Given the description of an element on the screen output the (x, y) to click on. 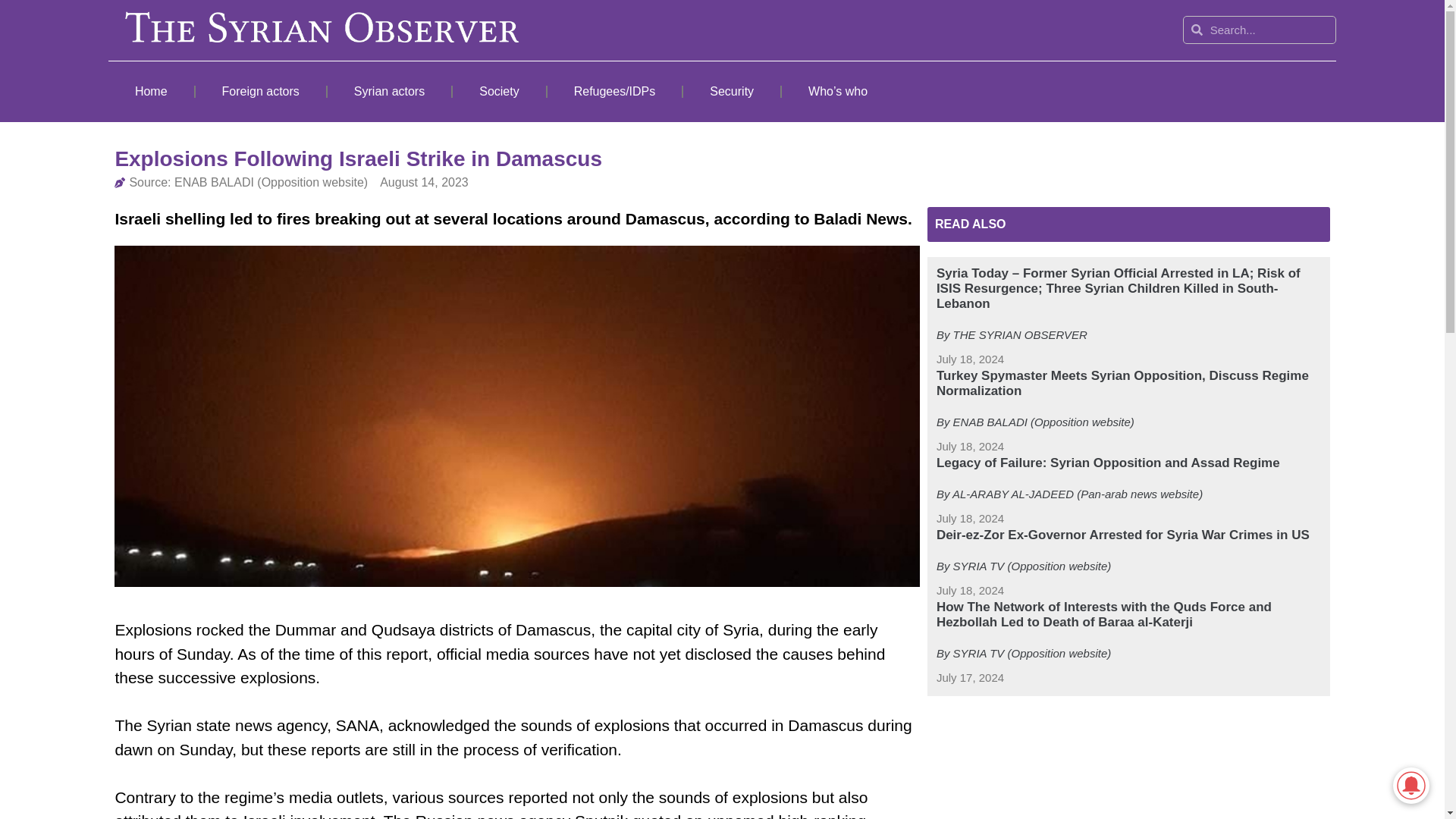
July 18, 2024 (970, 359)
July 18, 2024 (970, 518)
July 18, 2024 (970, 446)
Legacy of Failure: Syrian Opposition and Assad Regime (1107, 462)
Security (731, 91)
July 18, 2024 (970, 590)
Home (150, 91)
July 17, 2024 (970, 678)
Syrian actors (389, 91)
Society (498, 91)
Deir-ez-Zor Ex-Governor Arrested for Syria War Crimes in US (1122, 534)
Foreign actors (260, 91)
